Given the description of an element on the screen output the (x, y) to click on. 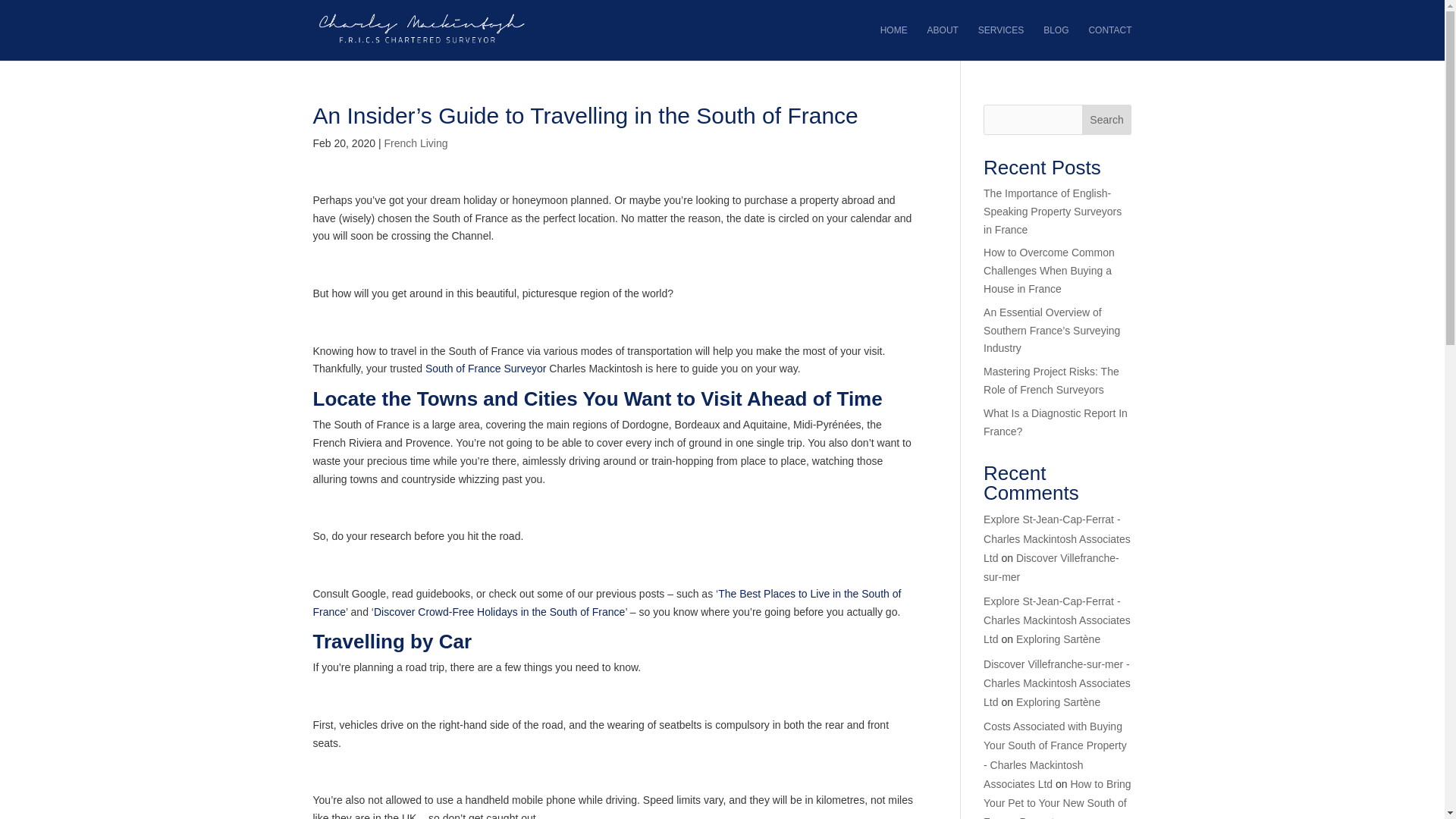
The Best Places to Live in the South of France (607, 603)
SERVICES (1000, 42)
French Living (415, 143)
What Is a Diagnostic Report In France? (1055, 422)
Mastering Project Risks: The Role of French Surveyors (1051, 380)
Discover Villefranche-sur-mer (1051, 567)
HOME (893, 42)
How to Bring Your Pet to Your New South of France Property (1057, 798)
Search (1106, 119)
South of France Surveyor (486, 368)
BLOG (1055, 42)
